Given the description of an element on the screen output the (x, y) to click on. 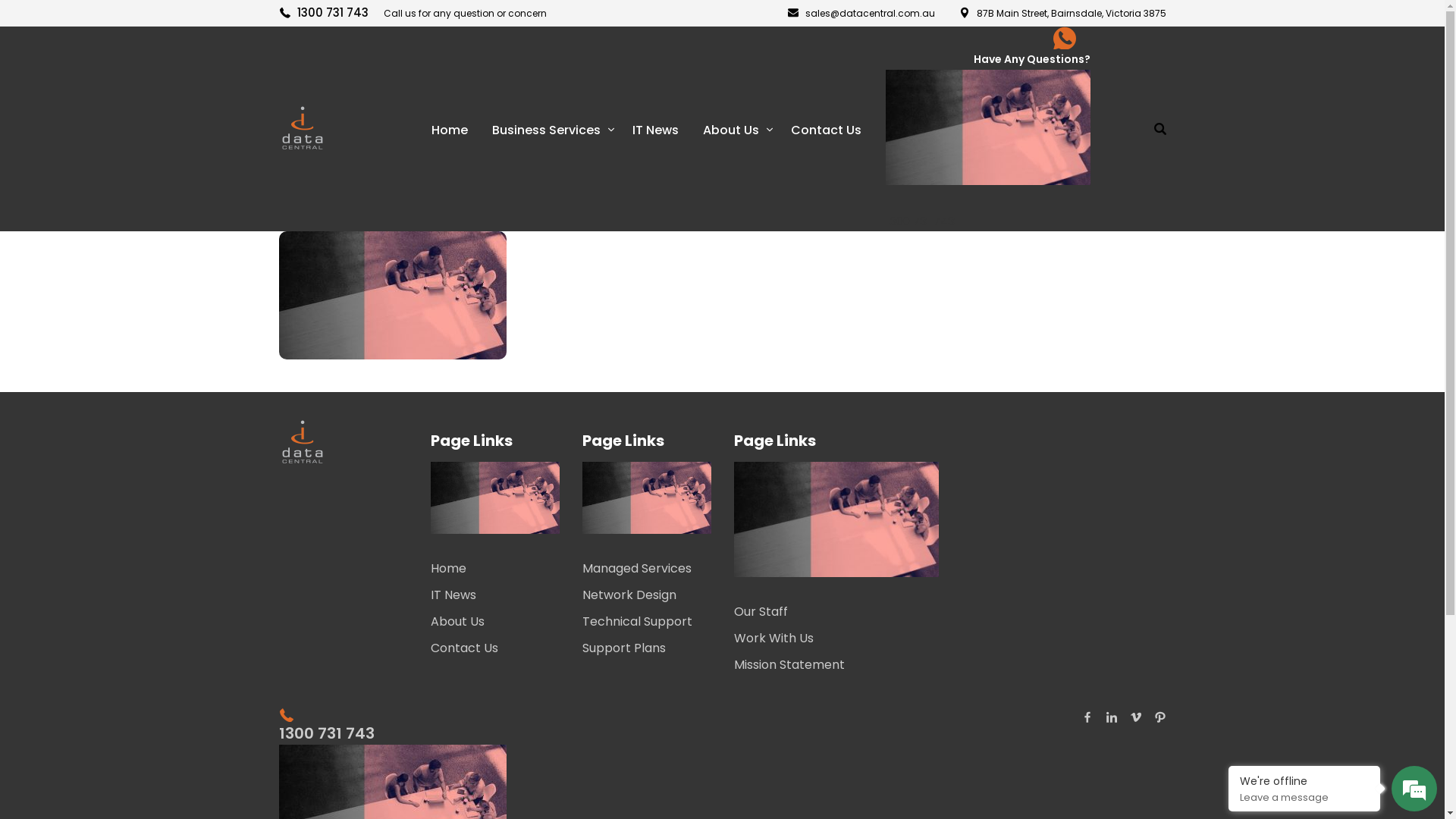
87B Main Street, Bairnsdale, Victoria 3875 Element type: text (1061, 12)
Have Any Questions? Element type: text (987, 59)
Mission Statement Element type: text (836, 664)
About Us Element type: text (489, 620)
IT News Element type: text (655, 128)
IT News Element type: text (489, 594)
Work With Us Element type: text (830, 637)
Network Design Element type: text (640, 594)
Managed Services Element type: text (640, 567)
1300 731 743 Element type: text (324, 12)
Contact Us Element type: text (494, 647)
Technical Support Element type: text (640, 620)
1300 731 743 Element type: text (495, 732)
sales@datacentral.com.au Element type: text (860, 12)
Support Plans Element type: text (646, 647)
Our Staff Element type: text (830, 611)
Contact Us Element type: text (825, 128)
Business Services Element type: text (549, 128)
Home Element type: text (489, 567)
Home Element type: text (448, 128)
About Us Element type: text (734, 128)
